Given the description of an element on the screen output the (x, y) to click on. 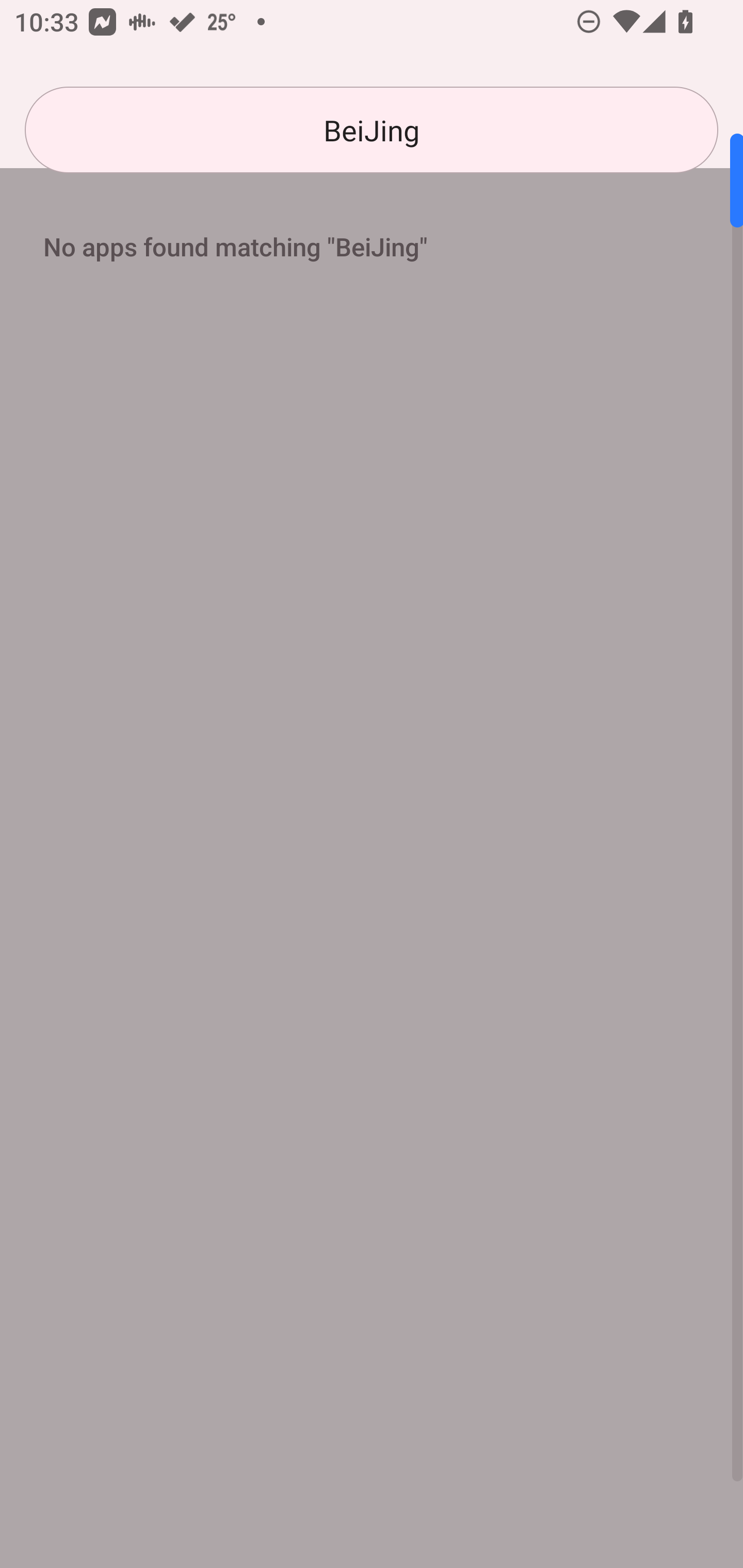
BeiJing (371, 130)
